Given the description of an element on the screen output the (x, y) to click on. 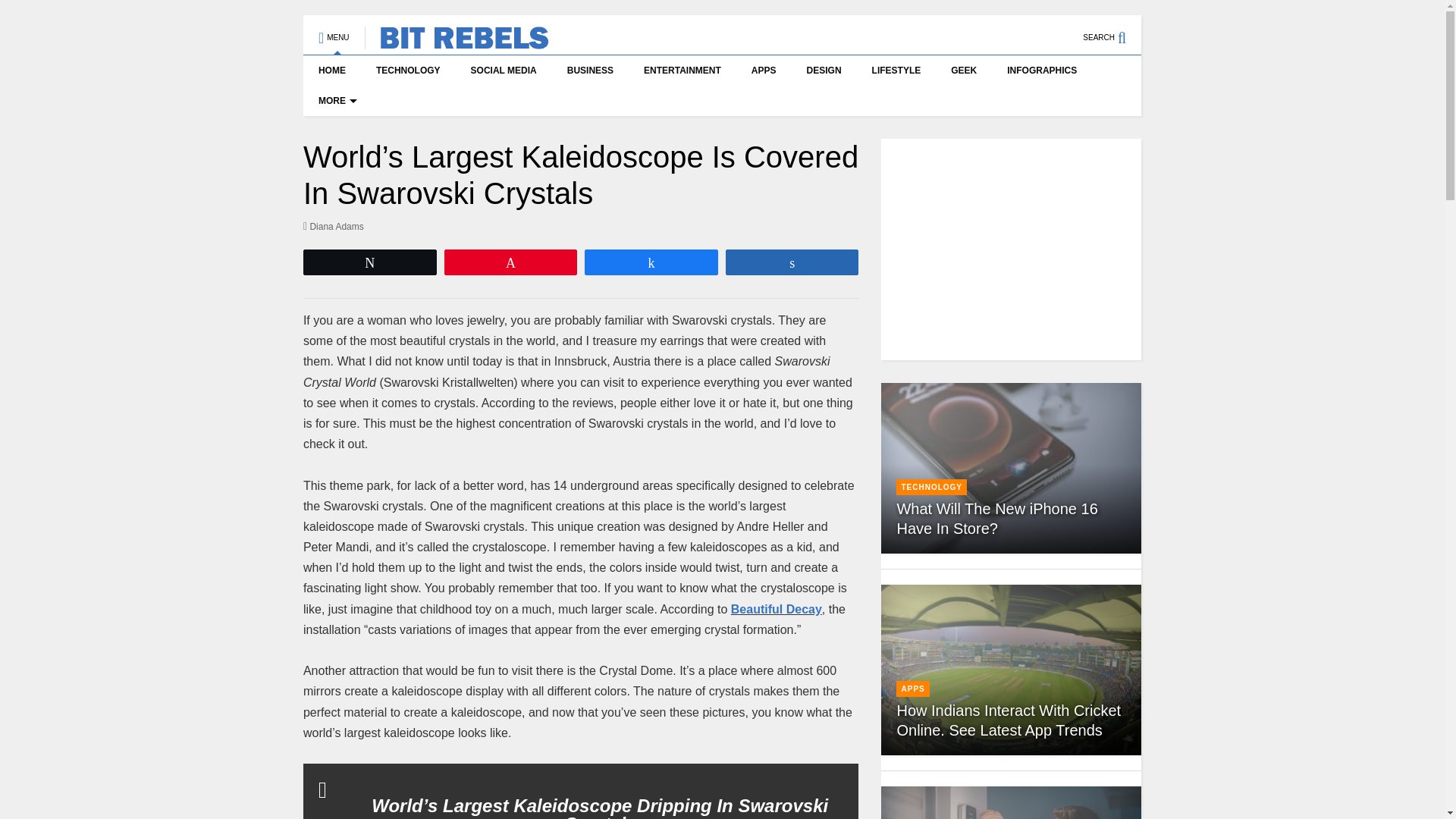
MORE (335, 100)
TECHNOLOGY (408, 70)
Diana Adams (333, 226)
Diana Adams (333, 226)
MENU (333, 30)
worlds largest kaleidoscope made of swarovski crystals (776, 608)
BUSINESS (589, 70)
Advertisement (1010, 248)
ENTERTAINMENT (682, 70)
GEEK (963, 70)
